Given the description of an element on the screen output the (x, y) to click on. 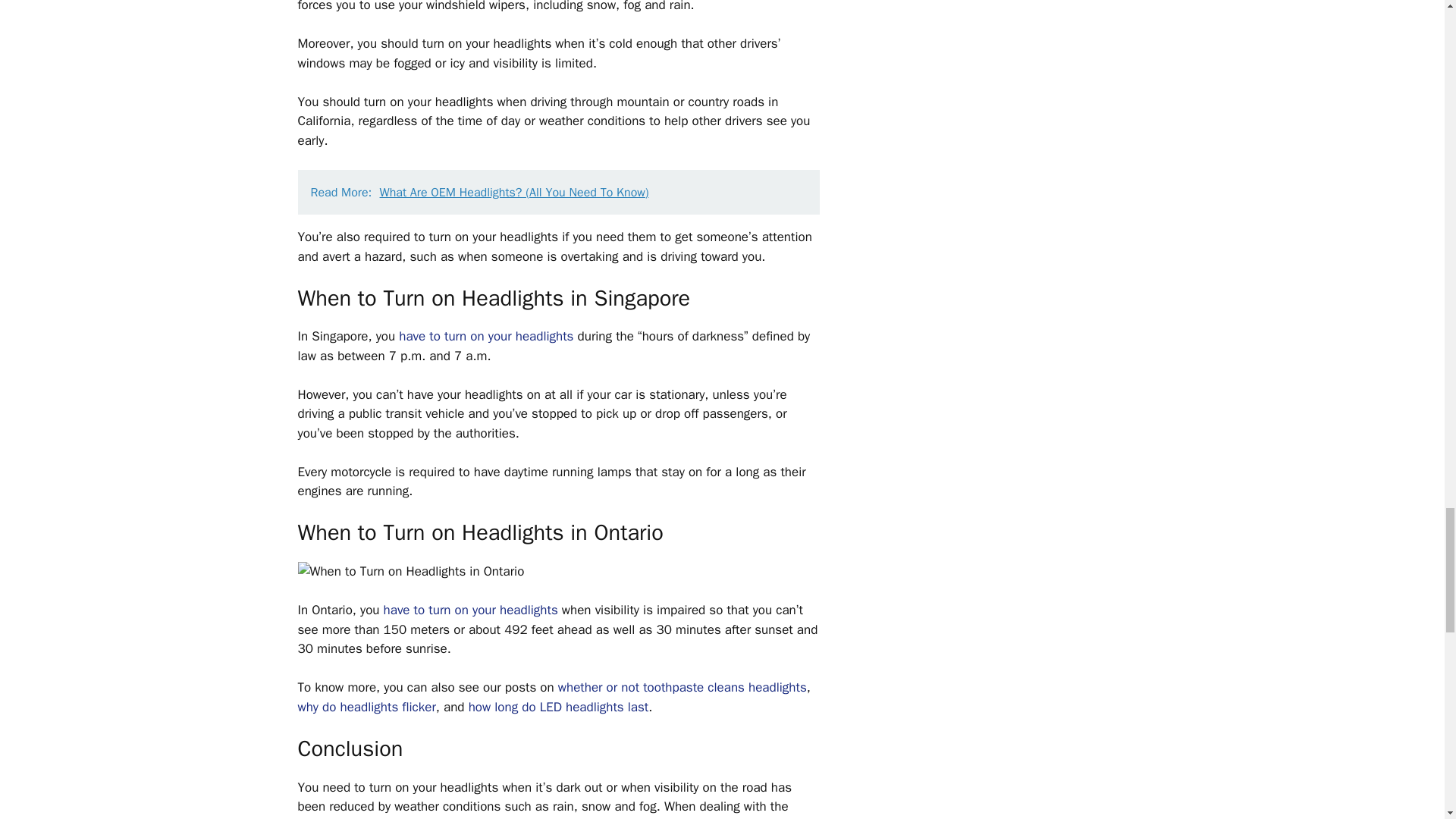
whether or not toothpaste cleans headlights (681, 687)
have to turn on your headlights (485, 335)
how long do LED headlights last (558, 706)
have to turn on your headlights (470, 609)
why do headlights flicker (366, 706)
